Given the description of an element on the screen output the (x, y) to click on. 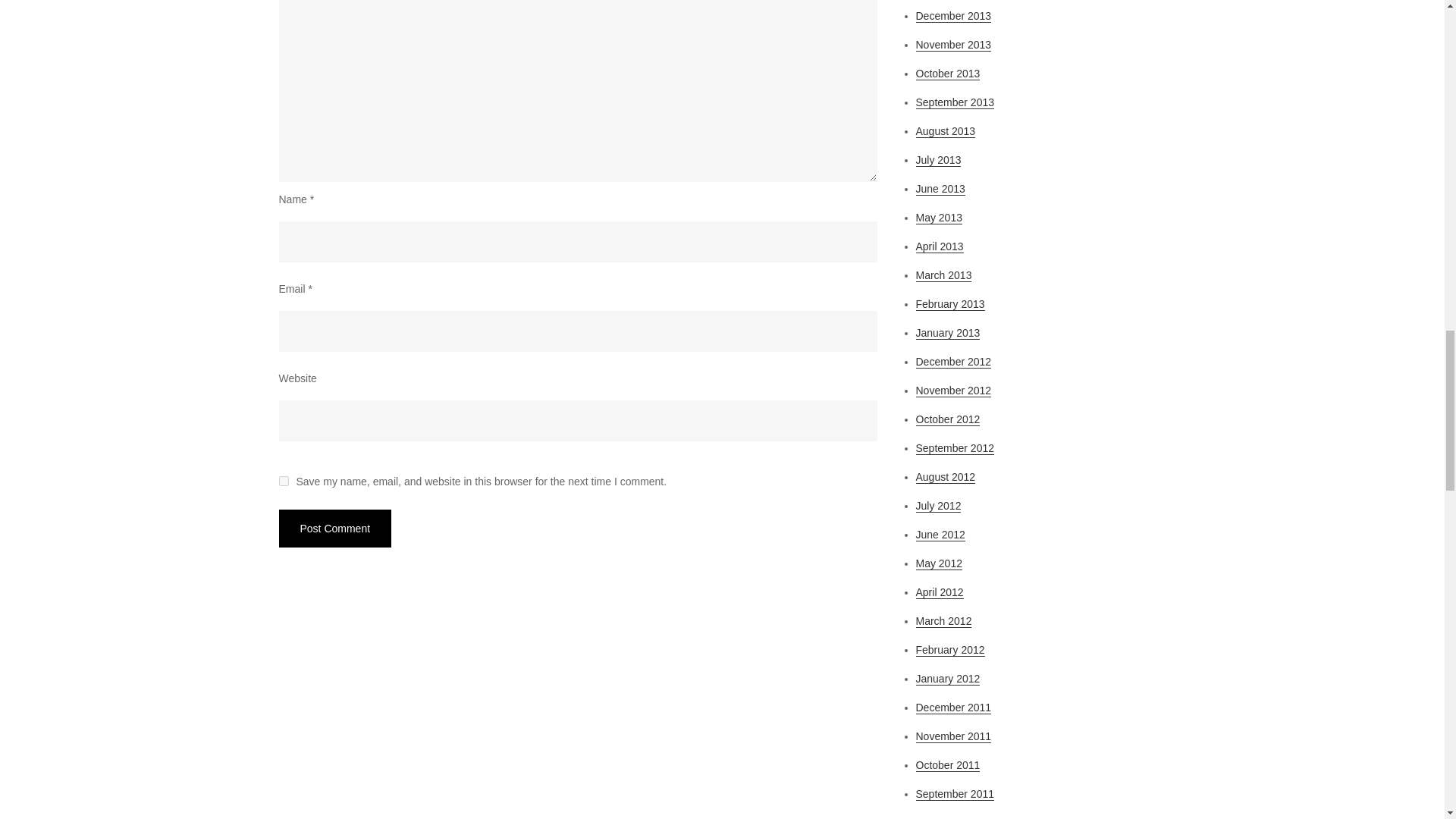
Post Comment (335, 528)
yes (283, 480)
